Given the description of an element on the screen output the (x, y) to click on. 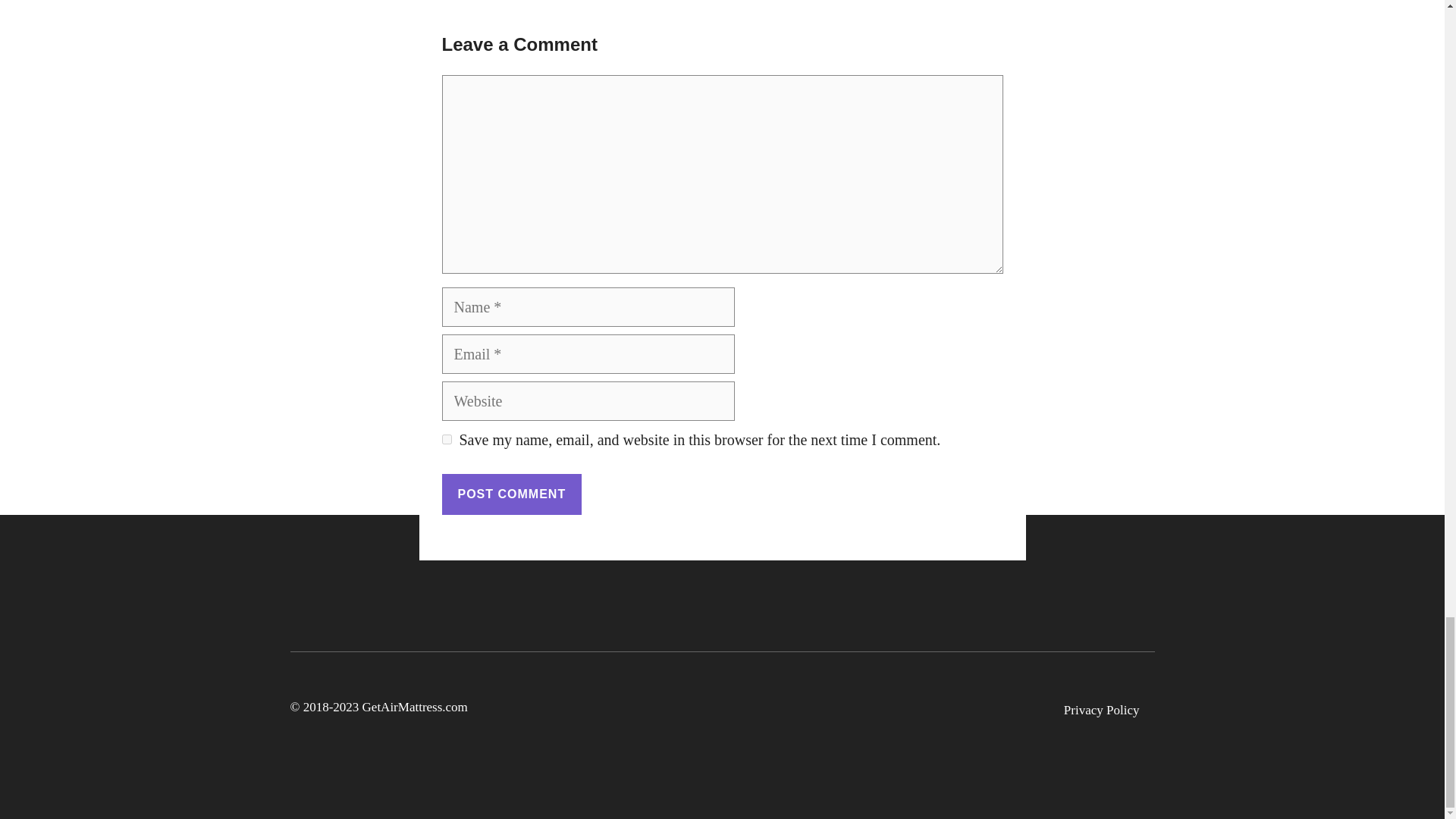
Privacy Policy (1102, 710)
Post Comment (510, 494)
yes (446, 439)
Post Comment (510, 494)
